Given the description of an element on the screen output the (x, y) to click on. 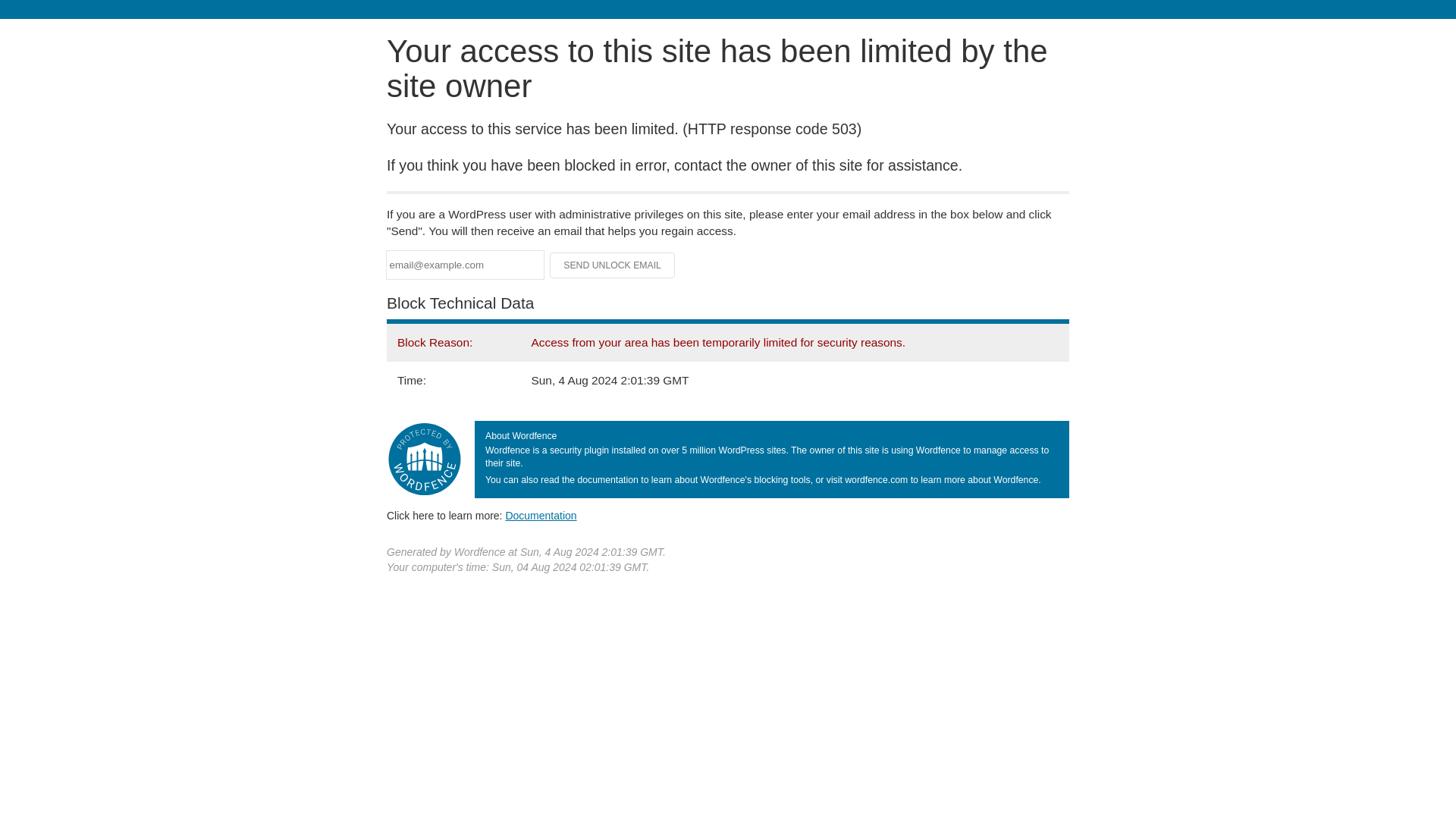
Documentation (540, 515)
Send Unlock Email (612, 265)
Send Unlock Email (612, 265)
